Given the description of an element on the screen output the (x, y) to click on. 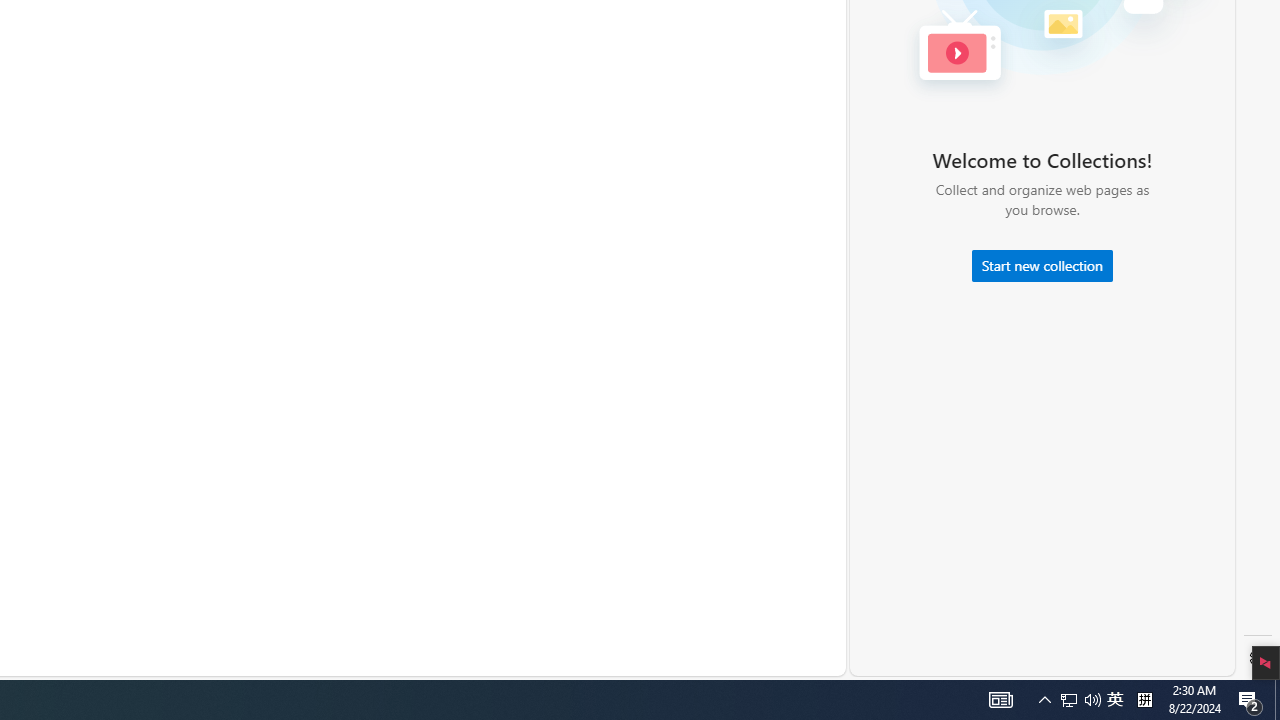
Start new collection (1042, 265)
